Given the description of an element on the screen output the (x, y) to click on. 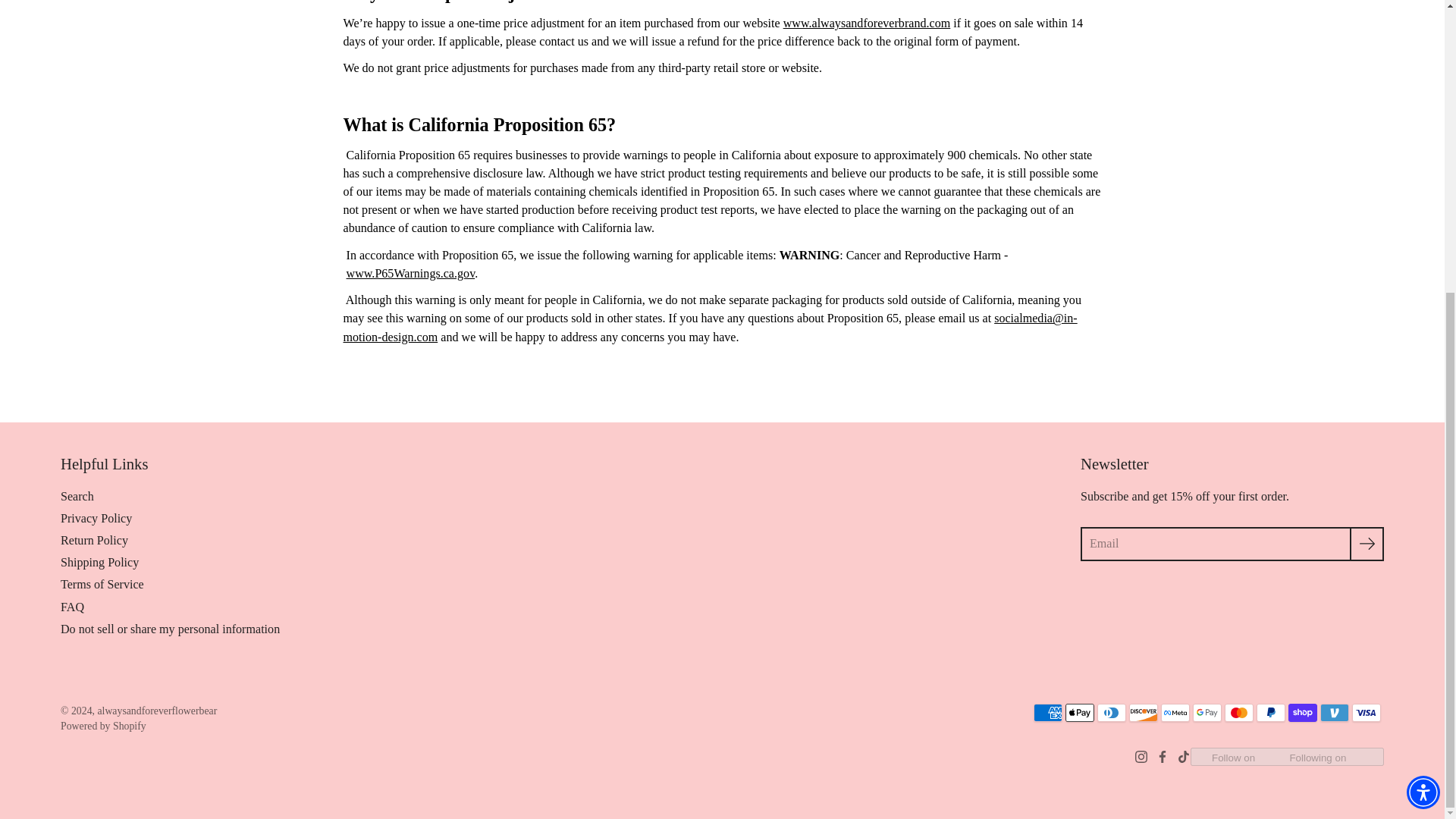
Mastercard (1238, 712)
Venmo (1334, 712)
Shop Pay (1302, 712)
Diners Club (1111, 712)
PayPal (1270, 712)
Accessibility Menu (1422, 345)
Visa (1366, 712)
American Express (1047, 712)
Apple Pay (1079, 712)
Google Pay (1206, 712)
Meta Pay (1174, 712)
Discover (1143, 712)
